Given the description of an element on the screen output the (x, y) to click on. 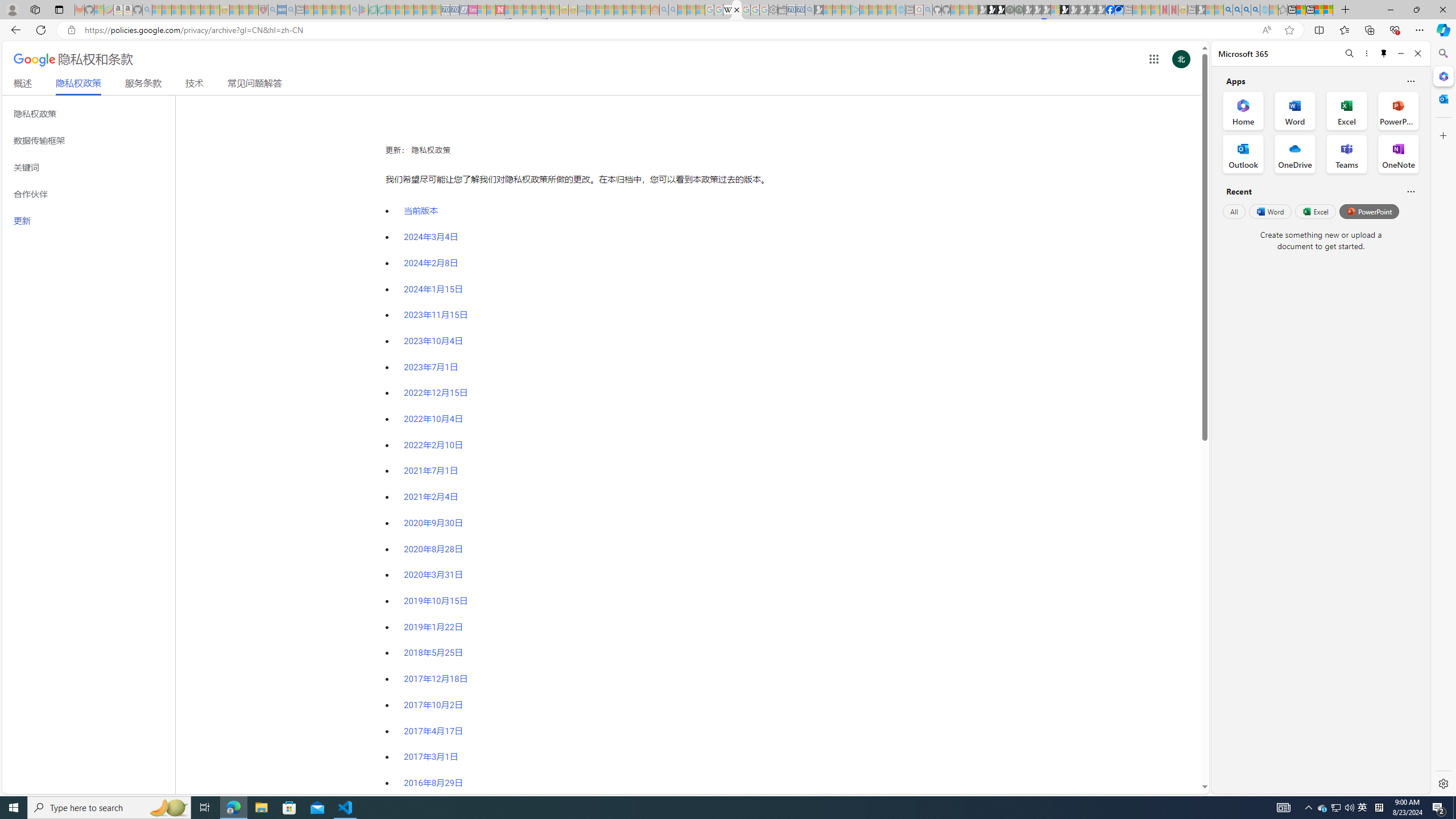
Teams Office App (1346, 154)
